Given the description of an element on the screen output the (x, y) to click on. 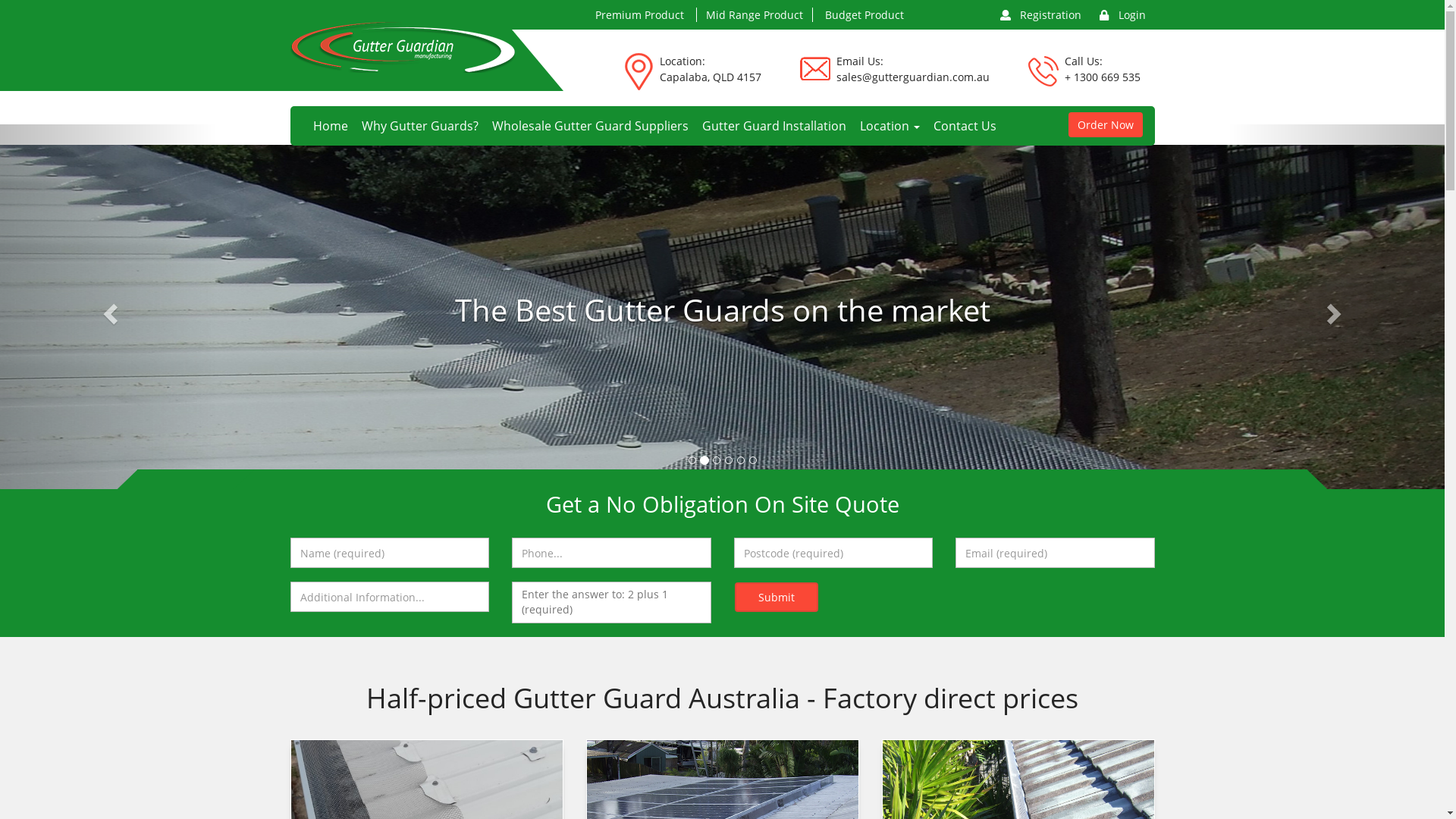
  Login Element type: text (1122, 14)
Contact Us Element type: text (961, 125)
Email Us:
sales@gutterguardian.com.au Element type: text (911, 73)
Previous Element type: text (108, 308)
Submit Element type: text (775, 596)
Budget Product Element type: text (864, 14)
Location:
Capalaba, QLD 4157 Element type: text (710, 73)
Call Us:
+ 1300 669 535 Element type: text (1102, 73)
Why Gutter Guards? Element type: text (419, 125)
Mid Range Product Element type: text (753, 14)
Wholesale Gutter Guard Suppliers Element type: text (590, 125)
Premium Product Element type: text (638, 14)
Home Element type: text (330, 125)
  Registration Element type: text (1040, 14)
Location Element type: text (888, 125)
Next Element type: text (1335, 308)
Gutter Guard Installation Element type: text (773, 125)
Order Now Element type: text (1104, 124)
